Given the description of an element on the screen output the (x, y) to click on. 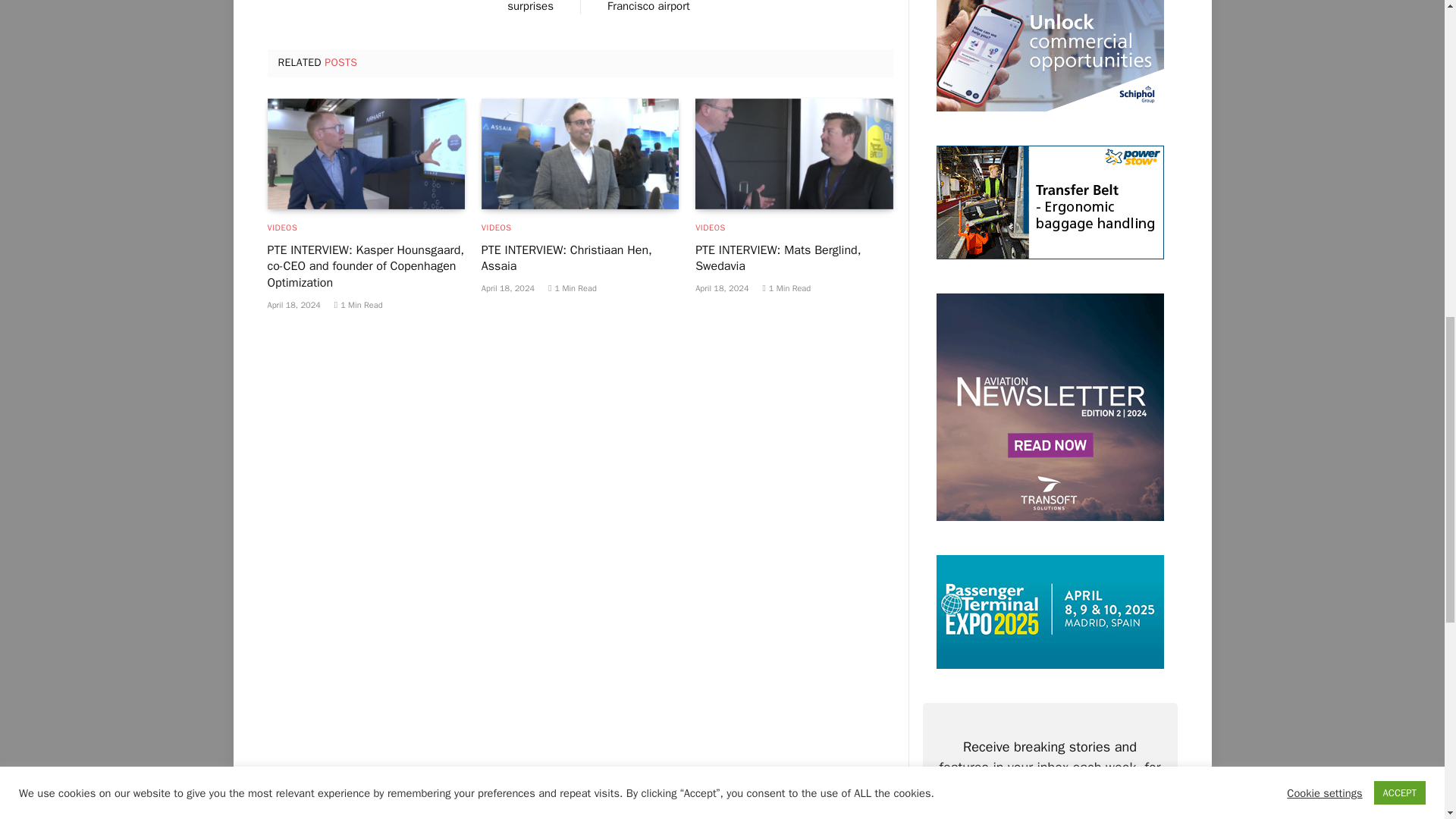
PTE INTERVIEW: Christiaan Hen, Assaia (579, 153)
